Given the description of an element on the screen output the (x, y) to click on. 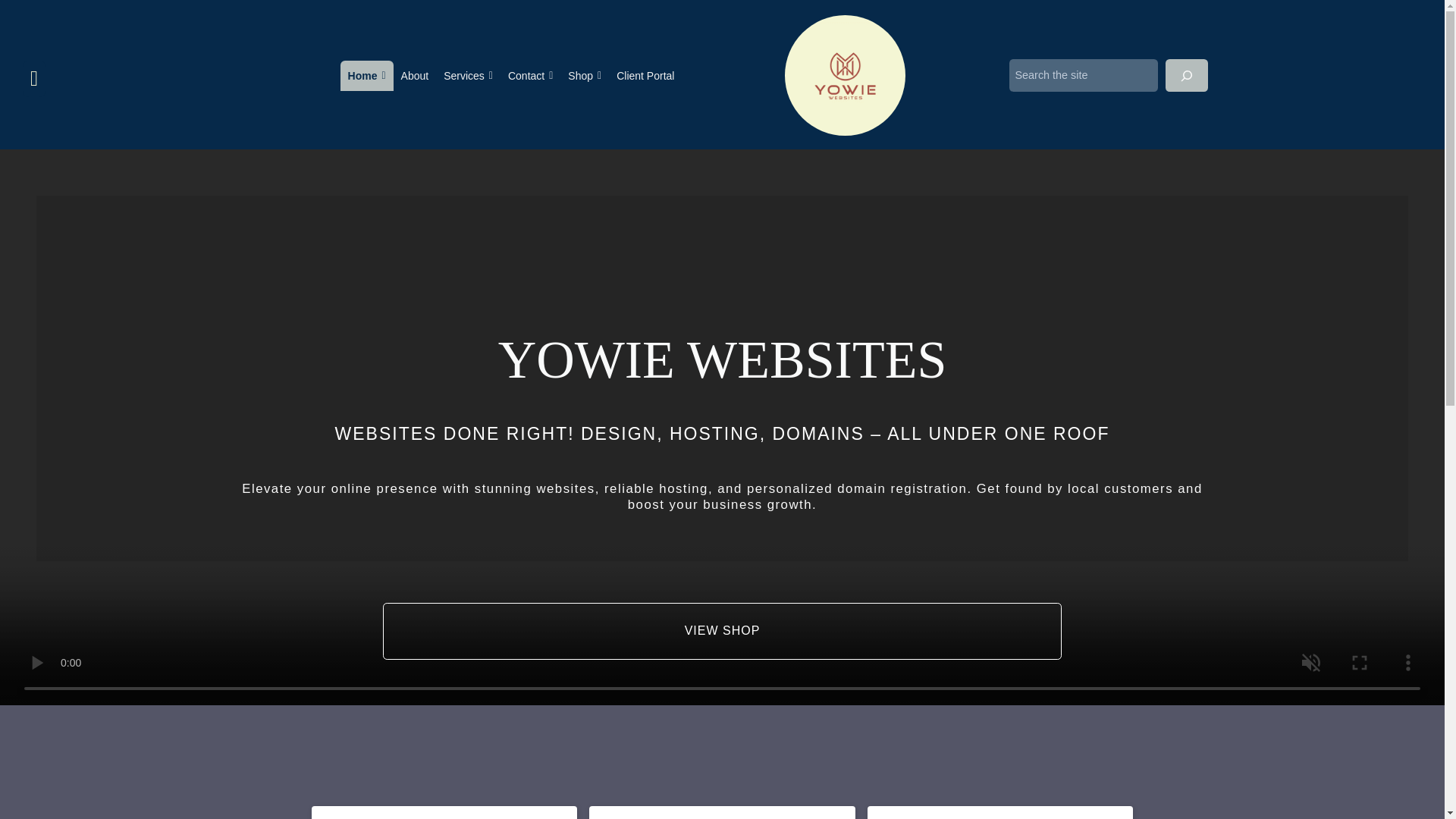
About (414, 75)
Shop (584, 75)
Client Portal (644, 75)
Services (467, 75)
Contact (530, 75)
Home (366, 75)
VIEW SHOP (721, 631)
